Given the description of an element on the screen output the (x, y) to click on. 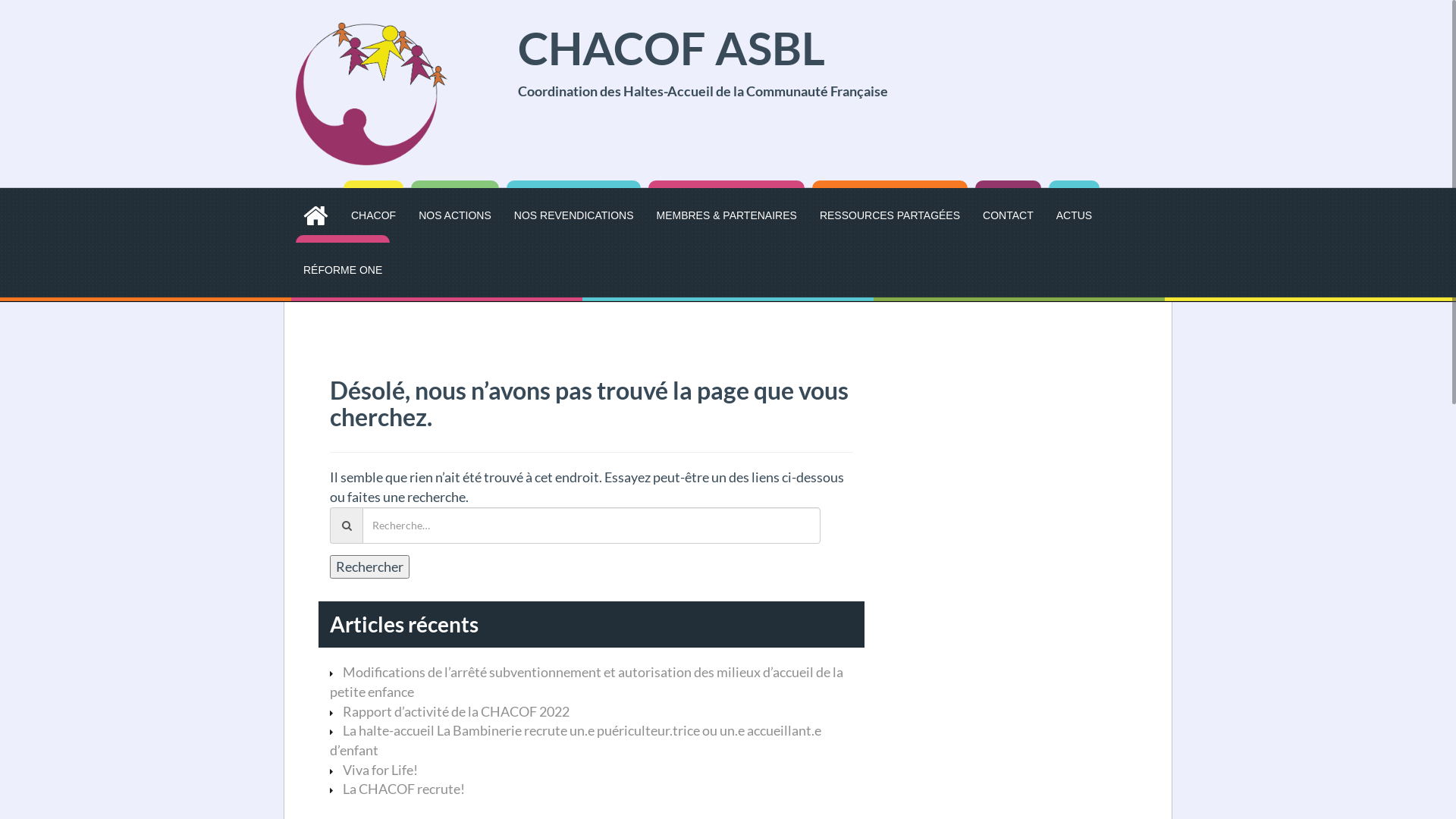
CHACOF ASBL Element type: text (670, 47)
CHACOF ASBL Element type: hover (371, 91)
CONTACT Element type: text (1007, 214)
Rechercher Element type: text (369, 567)
CHACOF Element type: text (373, 214)
Aller directement au contenu Element type: text (0, 0)
La CHACOF recrute! Element type: text (403, 788)
Viva for Life! Element type: text (379, 769)
NOS REVENDICATIONS Element type: text (573, 214)
NOS ACTIONS Element type: text (454, 214)
MEMBRES & PARTENAIRES Element type: text (725, 214)
ACTUS Element type: text (1074, 214)
